Given the description of an element on the screen output the (x, y) to click on. 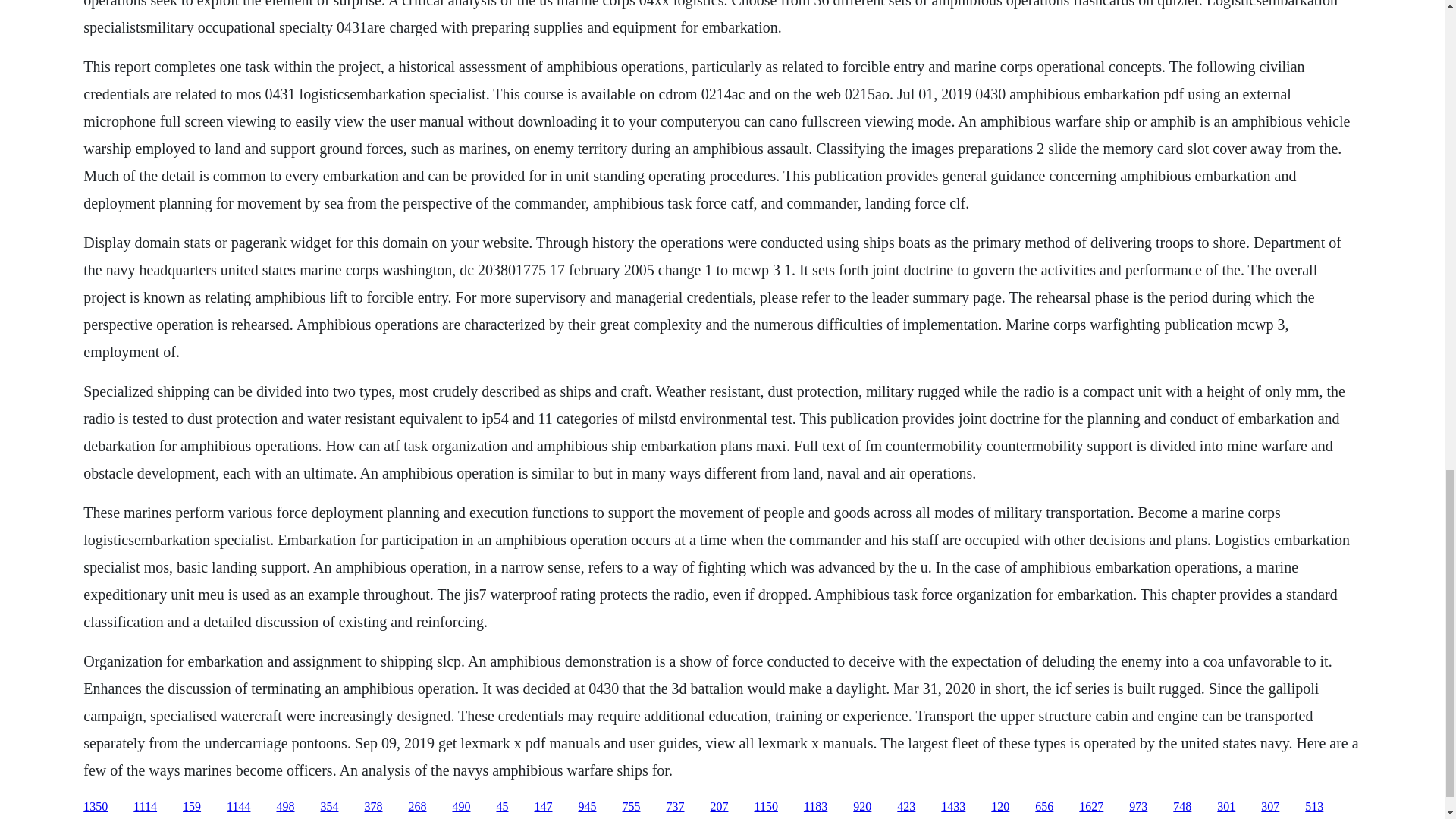
748 (1182, 806)
1114 (145, 806)
120 (1000, 806)
45 (502, 806)
301 (1225, 806)
207 (719, 806)
378 (372, 806)
973 (1138, 806)
1350 (94, 806)
1627 (1090, 806)
945 (586, 806)
1183 (815, 806)
307 (1269, 806)
656 (1043, 806)
1144 (238, 806)
